Given the description of an element on the screen output the (x, y) to click on. 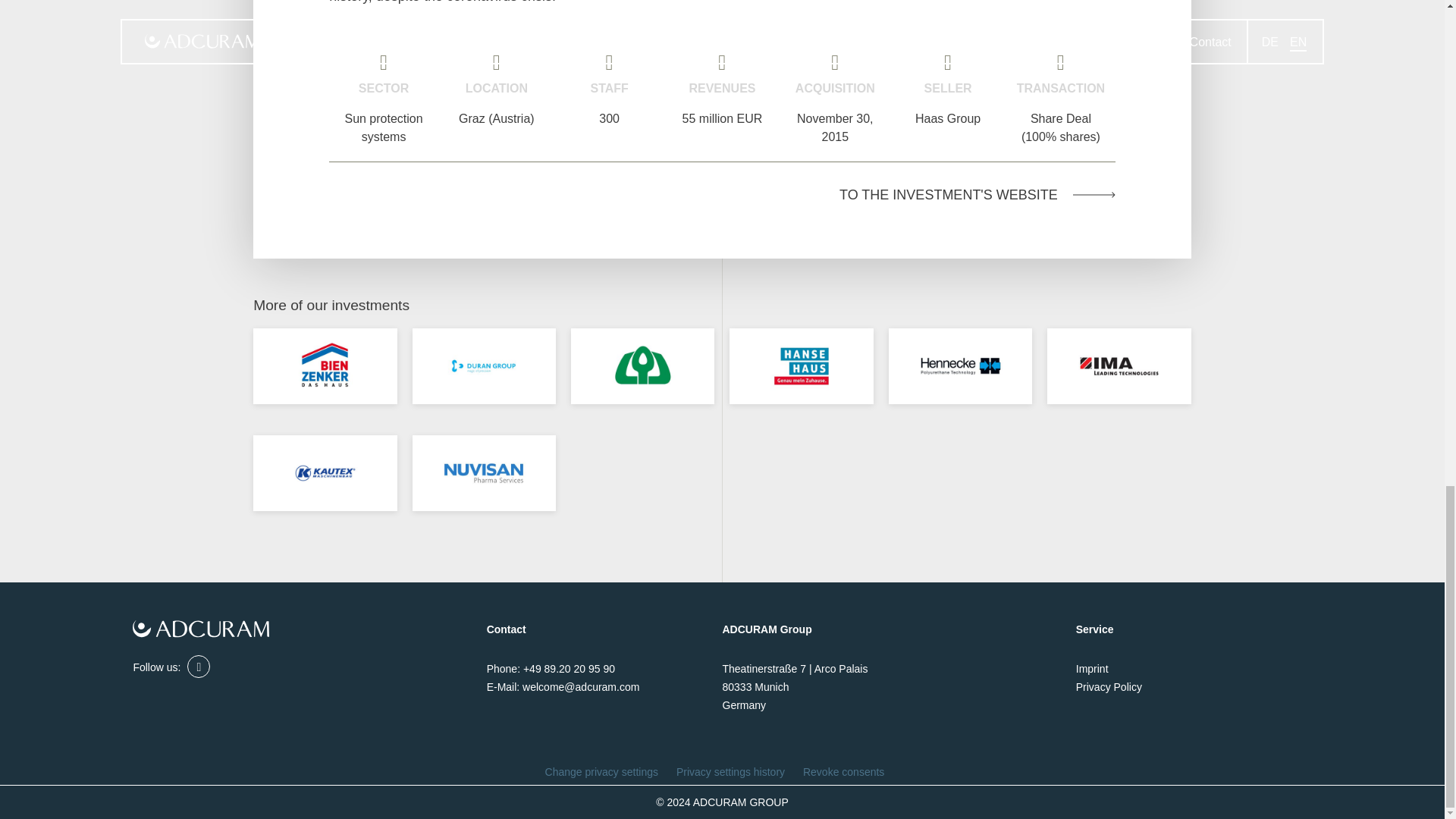
Garbe-Gruppe (642, 365)
TO THE INVESTMENT'S WEBSITE (722, 195)
Nuvisan (484, 473)
Duran (484, 365)
Change privacy settings (601, 771)
IMA (1118, 365)
Privacy Policy (1108, 686)
Imprint (1091, 668)
Revoke consents (843, 771)
Kautex (324, 473)
